Given the description of an element on the screen output the (x, y) to click on. 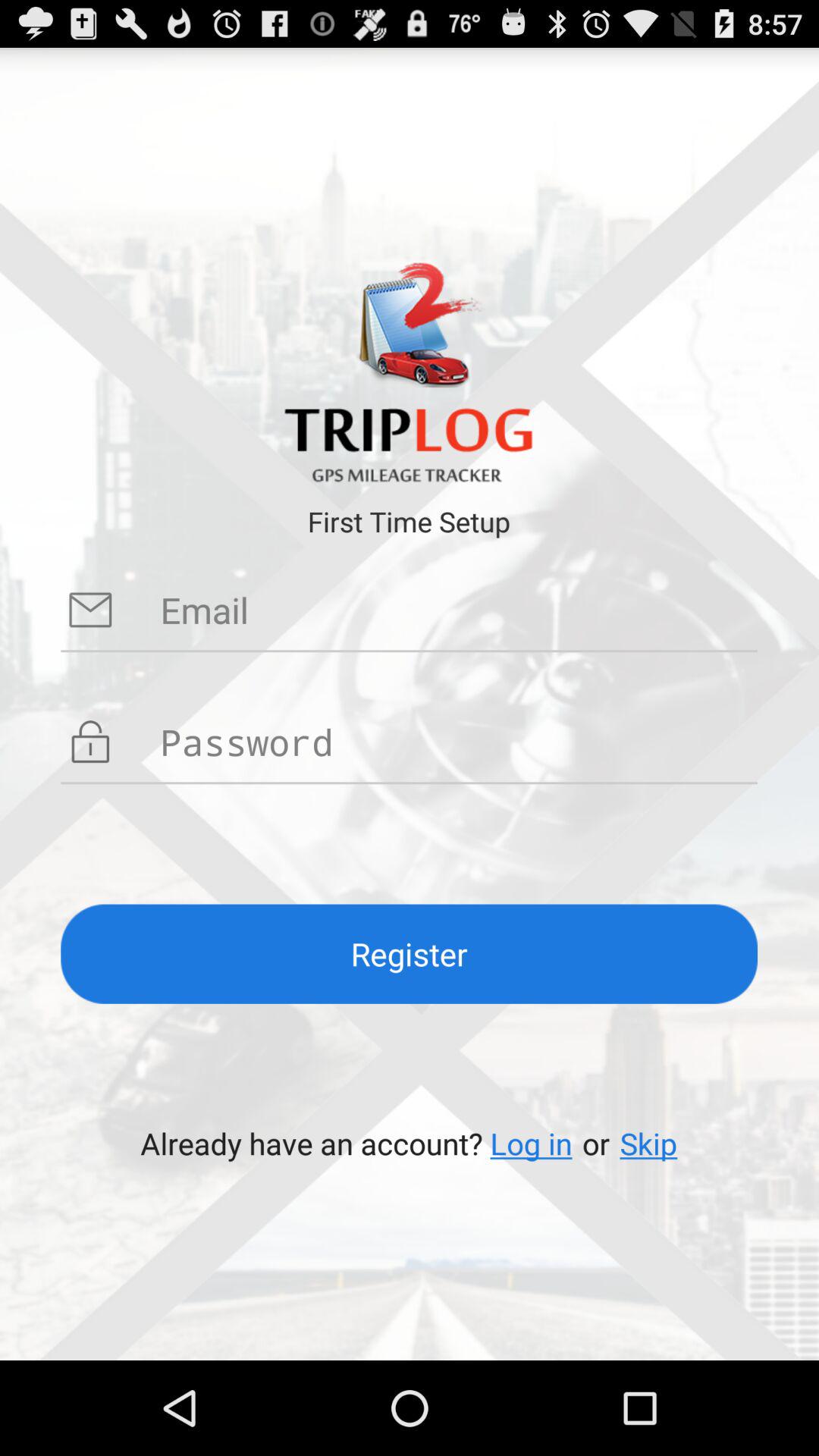
scroll to log in app (531, 1143)
